Given the description of an element on the screen output the (x, y) to click on. 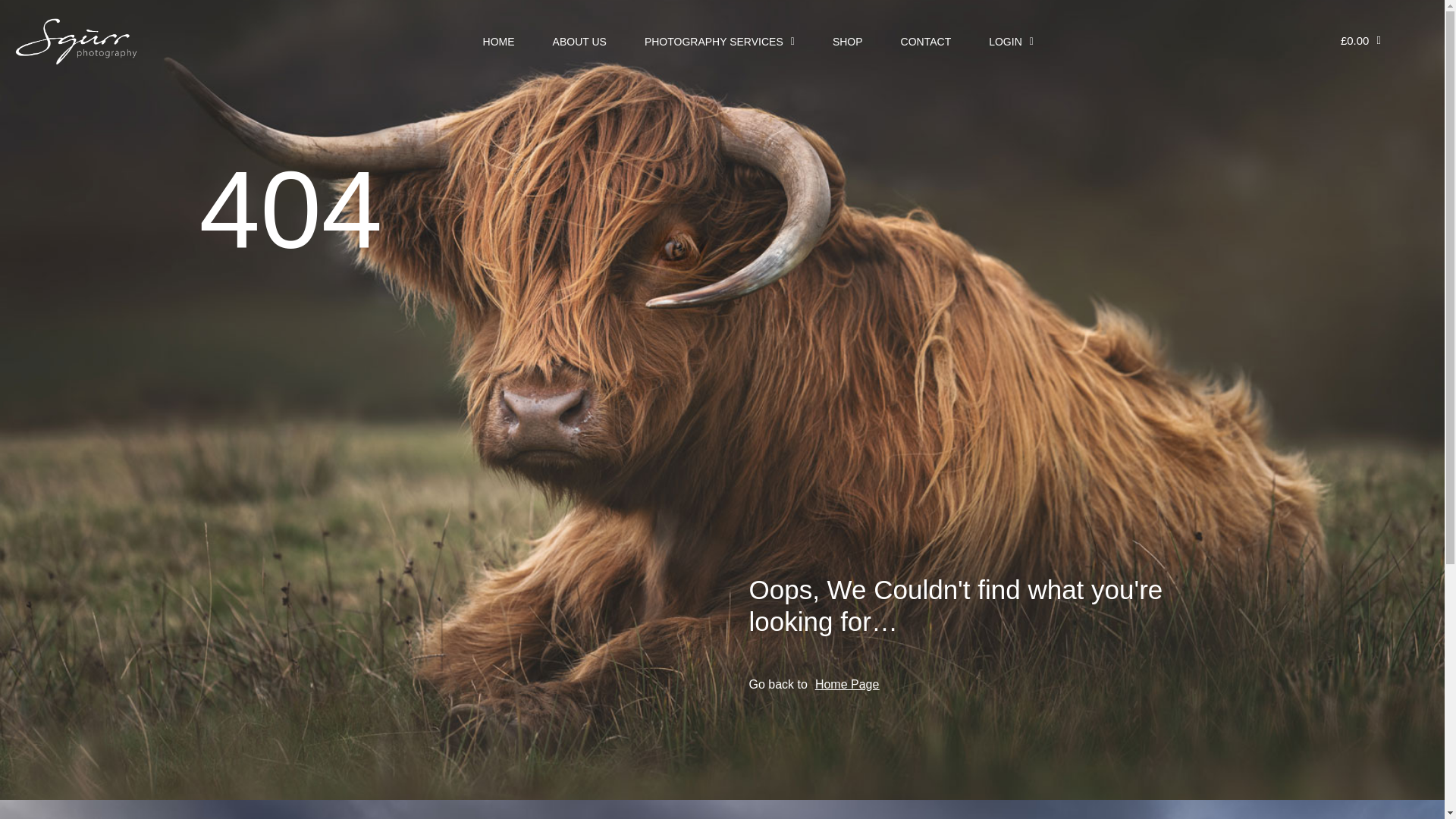
CONTACT (926, 19)
HOME (499, 11)
PHOTOGRAPHY SERVICES (719, 12)
ABOUT US (580, 11)
LOGIN (1010, 20)
